Given the description of an element on the screen output the (x, y) to click on. 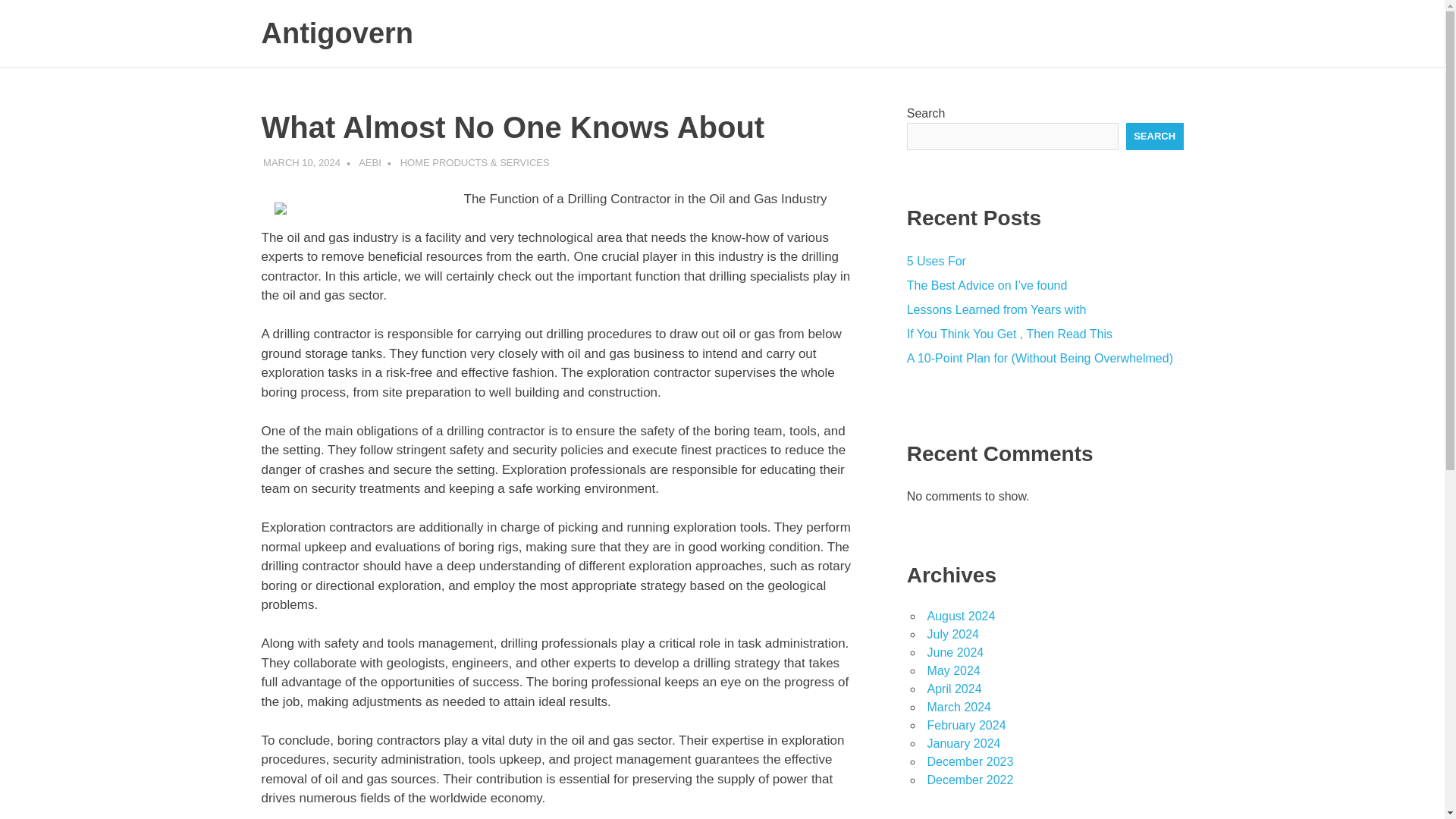
Lessons Learned from Years with (996, 309)
5 Uses For (936, 260)
6:13 am (301, 161)
January 2024 (963, 743)
August 2024 (960, 615)
If You Think You Get , Then Read This (1009, 333)
March 2024 (958, 707)
December 2023 (969, 761)
AEBI (369, 161)
April 2024 (953, 688)
